Given the description of an element on the screen output the (x, y) to click on. 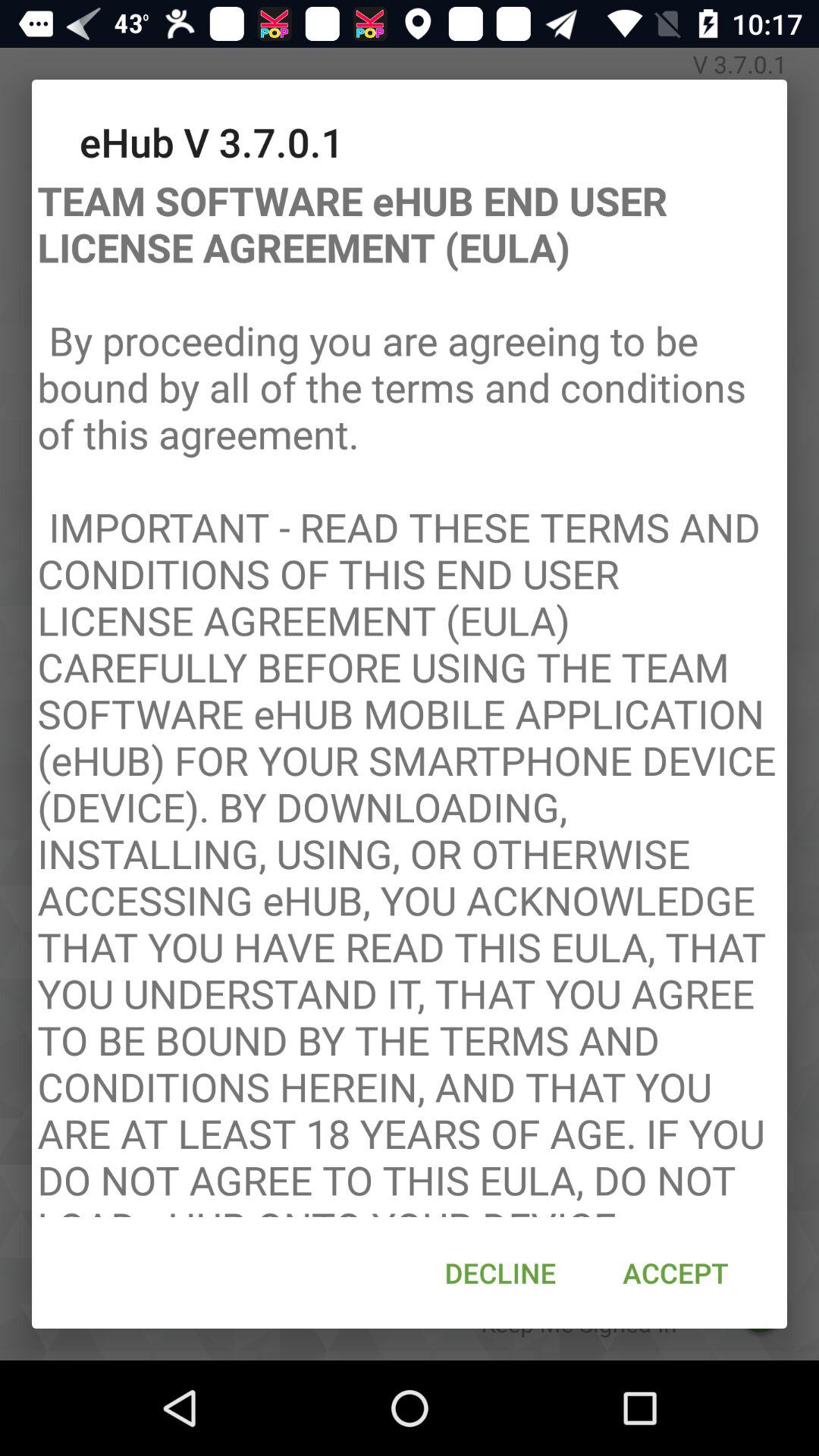
flip to the accept item (675, 1272)
